Given the description of an element on the screen output the (x, y) to click on. 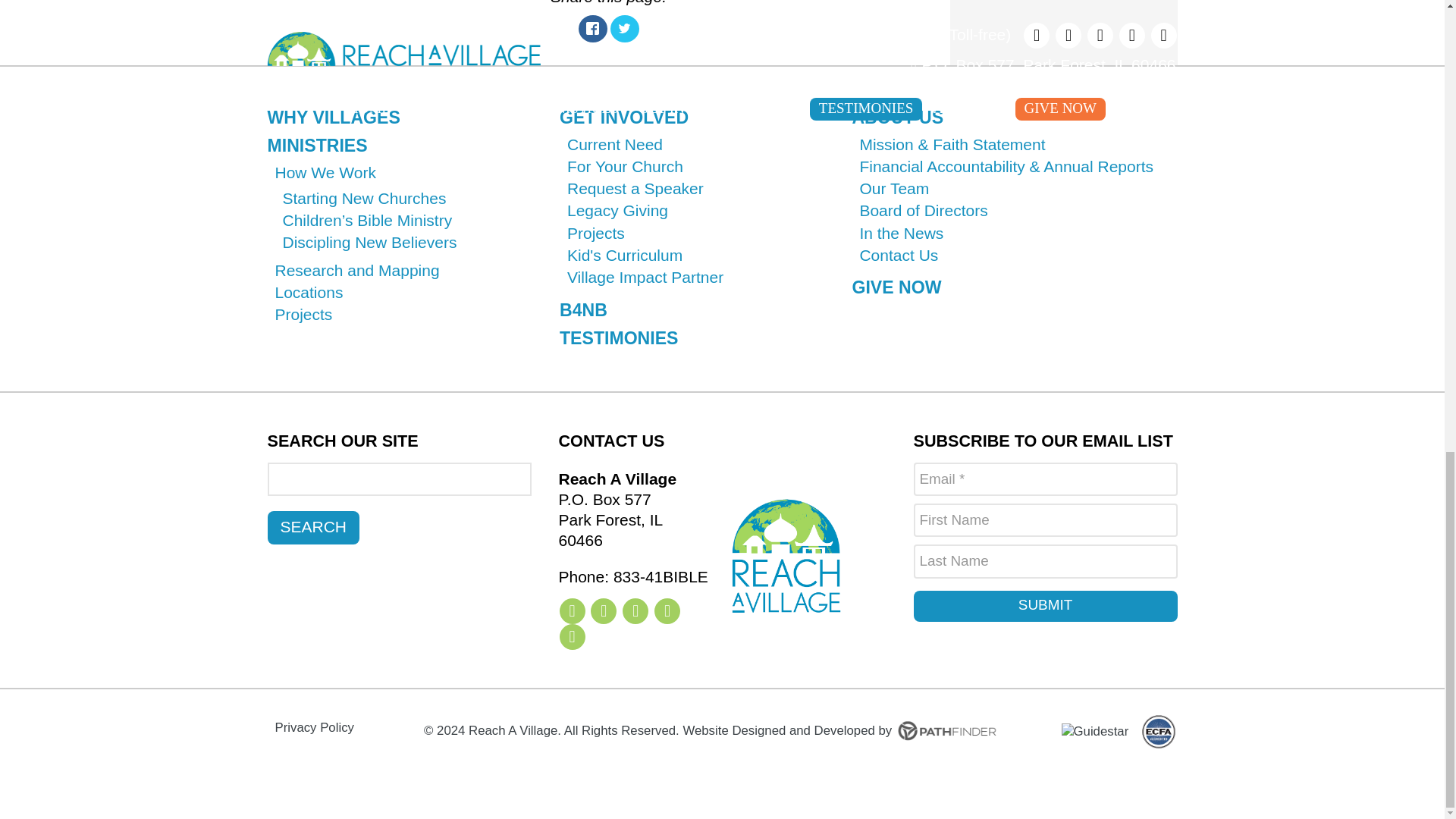
P.O. Box 577Park Forest, IL 60466 (632, 509)
833-412-4253 (632, 576)
Logo Footer (785, 555)
Submit (1044, 606)
